Given the description of an element on the screen output the (x, y) to click on. 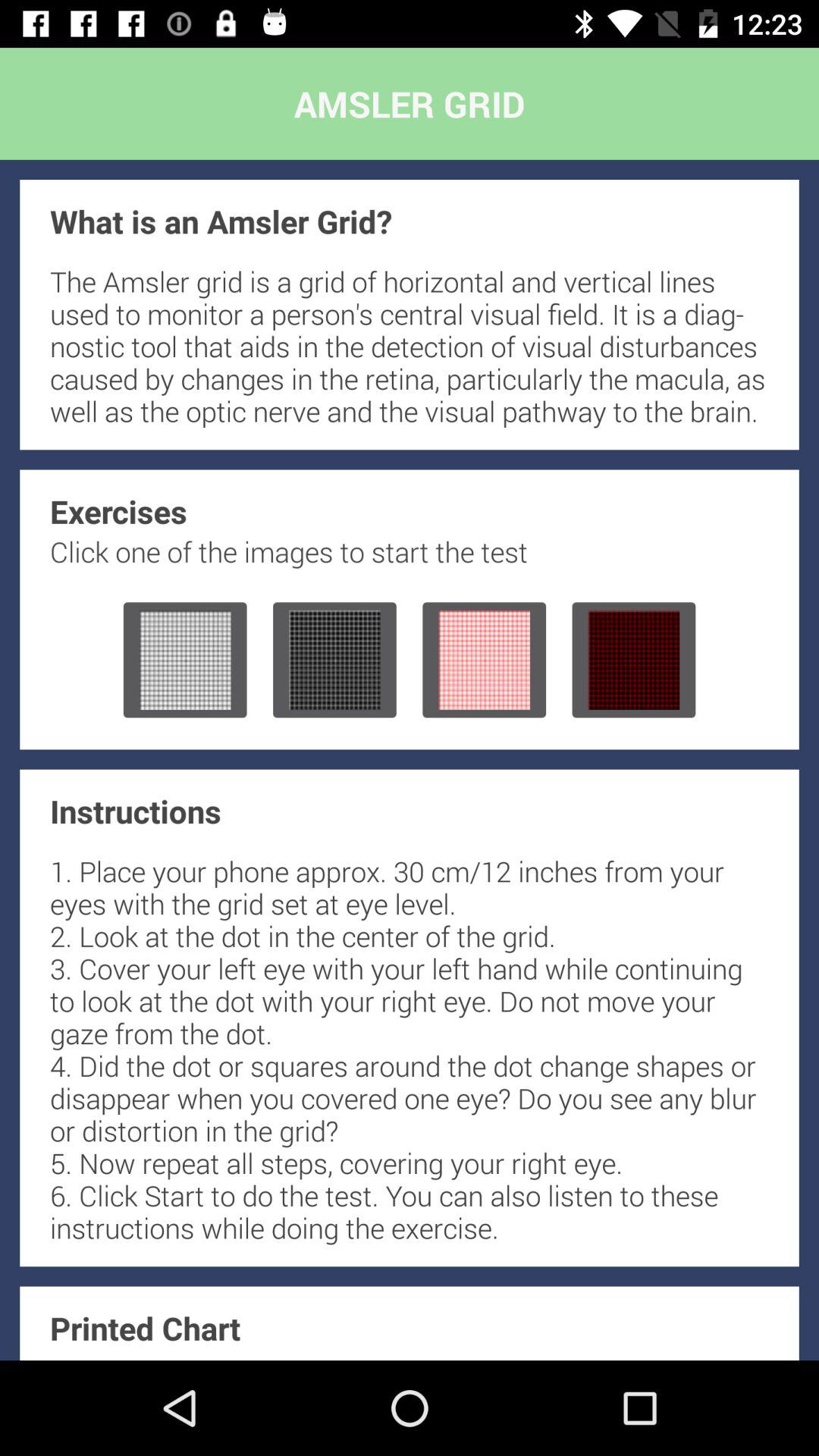
select grid for test (633, 659)
